Given the description of an element on the screen output the (x, y) to click on. 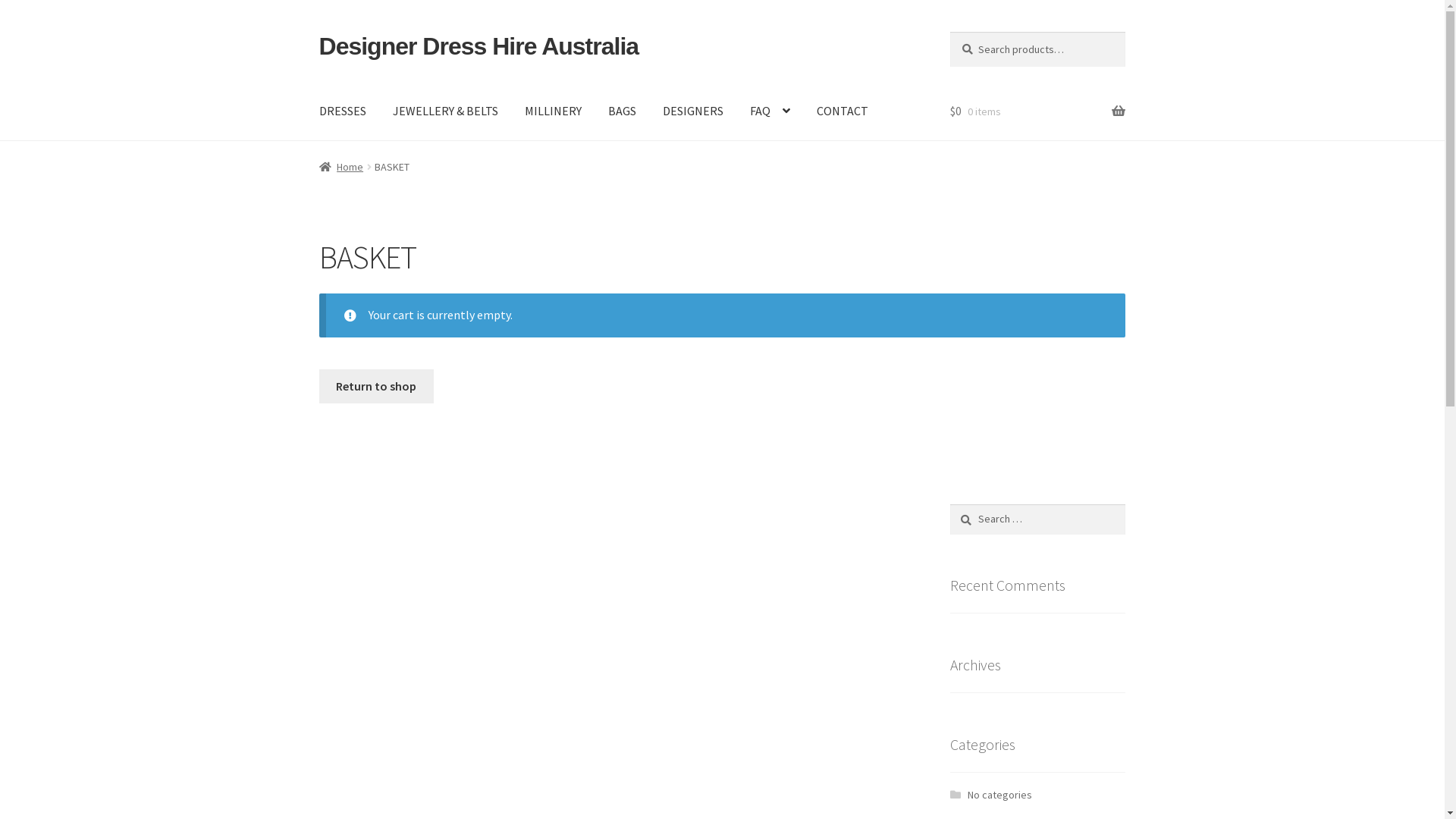
CONTACT Element type: text (842, 111)
FAQ Element type: text (769, 111)
JEWELLERY & BELTS Element type: text (445, 111)
DESIGNERS Element type: text (692, 111)
Skip to navigation Element type: text (318, 31)
BAGS Element type: text (622, 111)
Search Element type: text (949, 503)
Return to shop Element type: text (376, 386)
$0 0 items Element type: text (1037, 111)
Designer Dress Hire Australia Element type: text (479, 45)
DRESSES Element type: text (342, 111)
MILLINERY Element type: text (552, 111)
Home Element type: text (341, 166)
Search Element type: text (949, 31)
